Given the description of an element on the screen output the (x, y) to click on. 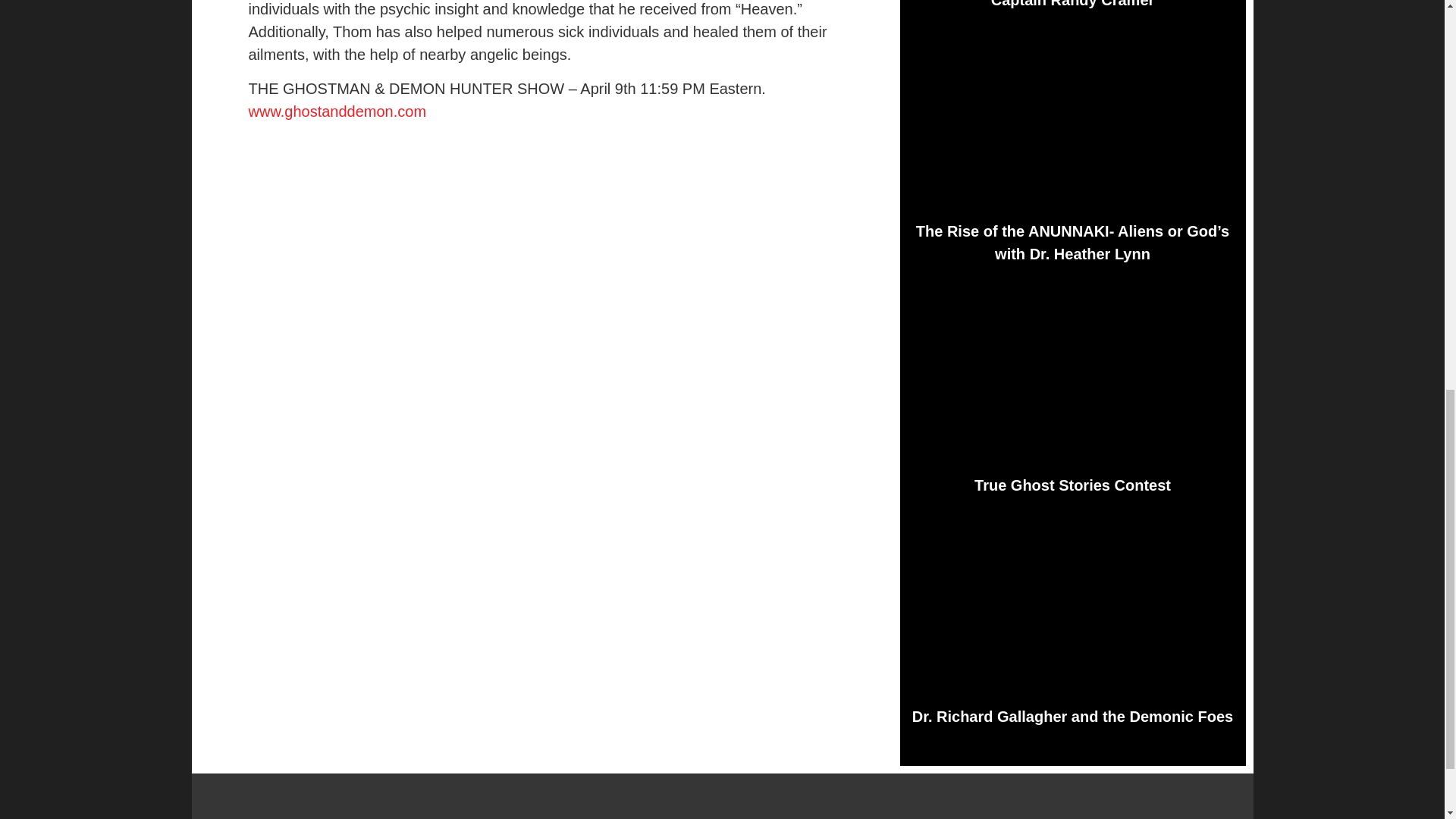
Unveiling the Secret Space Program with Captain Randy Cramer (1072, 4)
True Ghost Stories Contest (1072, 484)
www.ghostanddemon.com (337, 111)
Dr. Richard Gallagher and the Demonic Foes (1072, 716)
www.ghostanddemon.com (337, 111)
